Given the description of an element on the screen output the (x, y) to click on. 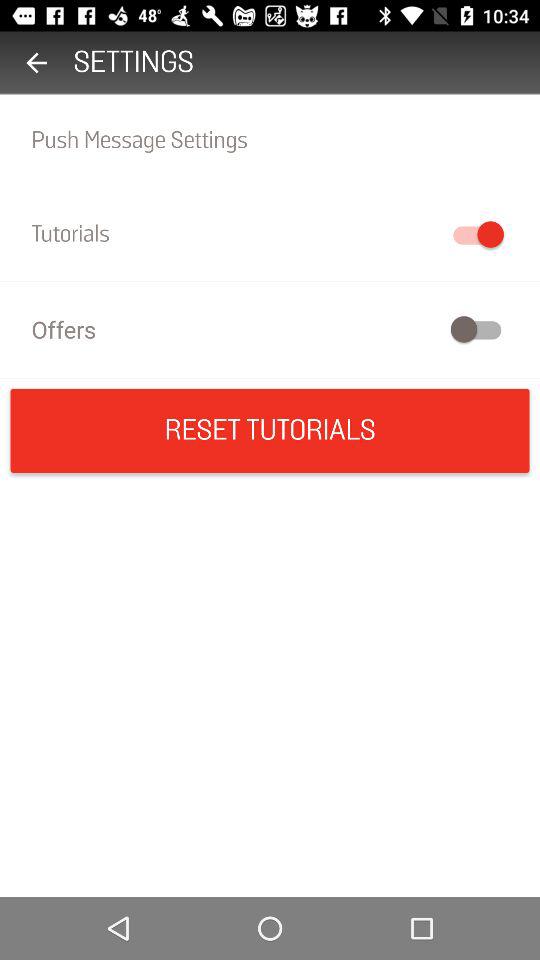
turn off the reset tutorials item (269, 430)
